Given the description of an element on the screen output the (x, y) to click on. 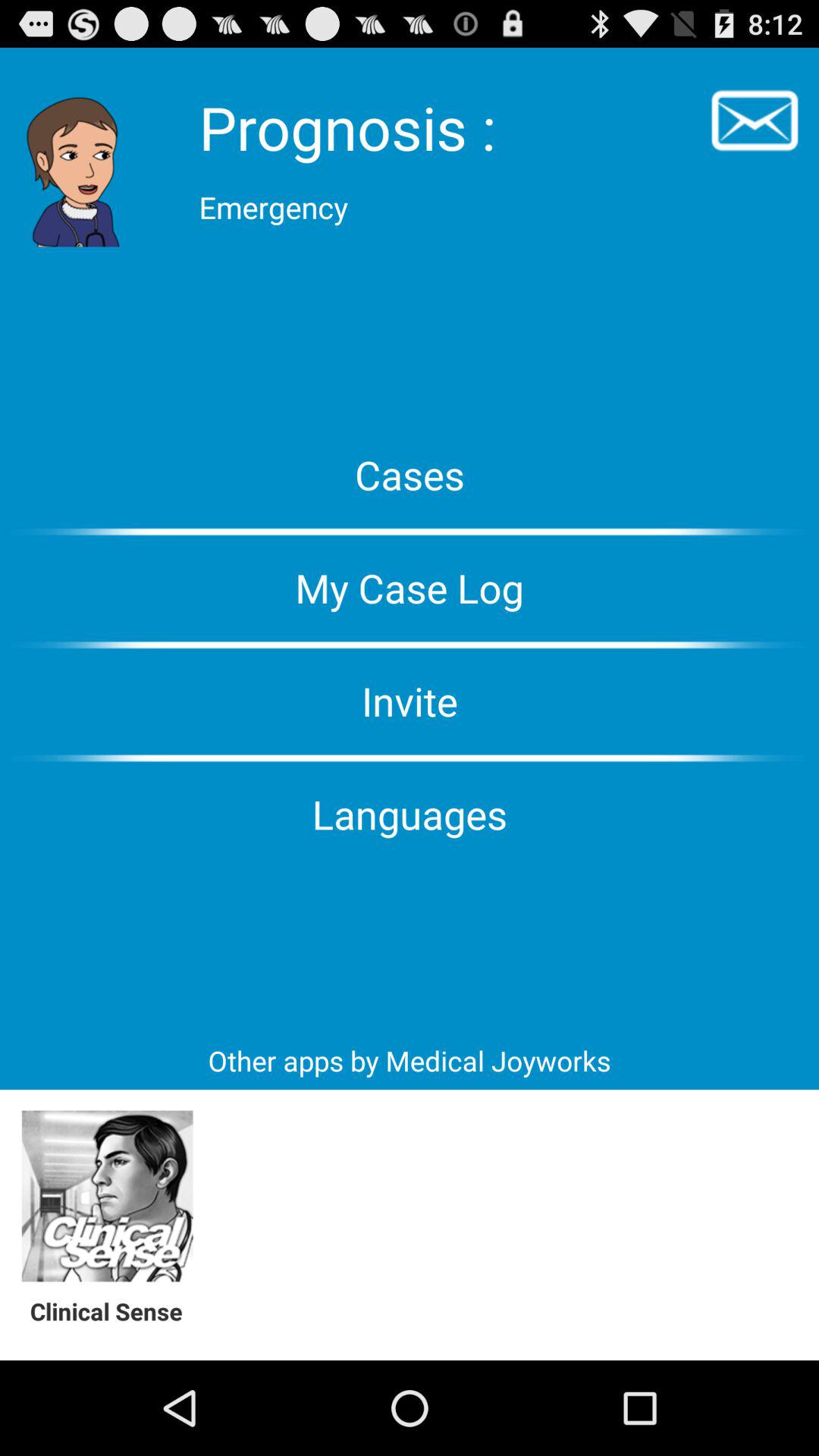
flip to my case log (409, 587)
